Given the description of an element on the screen output the (x, y) to click on. 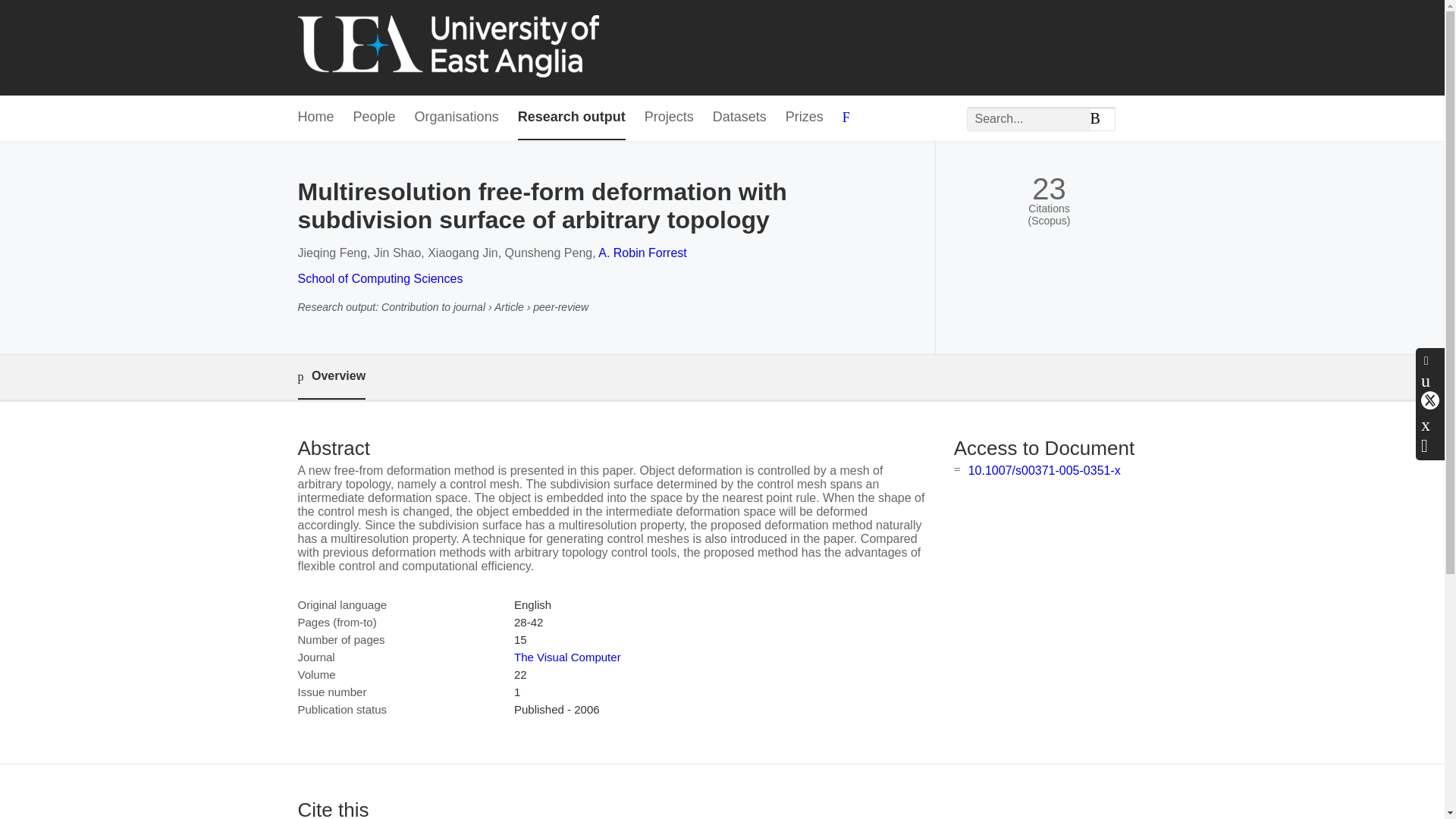
Organisations (456, 117)
A. Robin Forrest (641, 252)
Projects (669, 117)
School of Computing Sciences (380, 278)
The Visual Computer (567, 656)
Research output (572, 117)
People (374, 117)
Overview (331, 376)
University of East Anglia Home (447, 47)
